Given the description of an element on the screen output the (x, y) to click on. 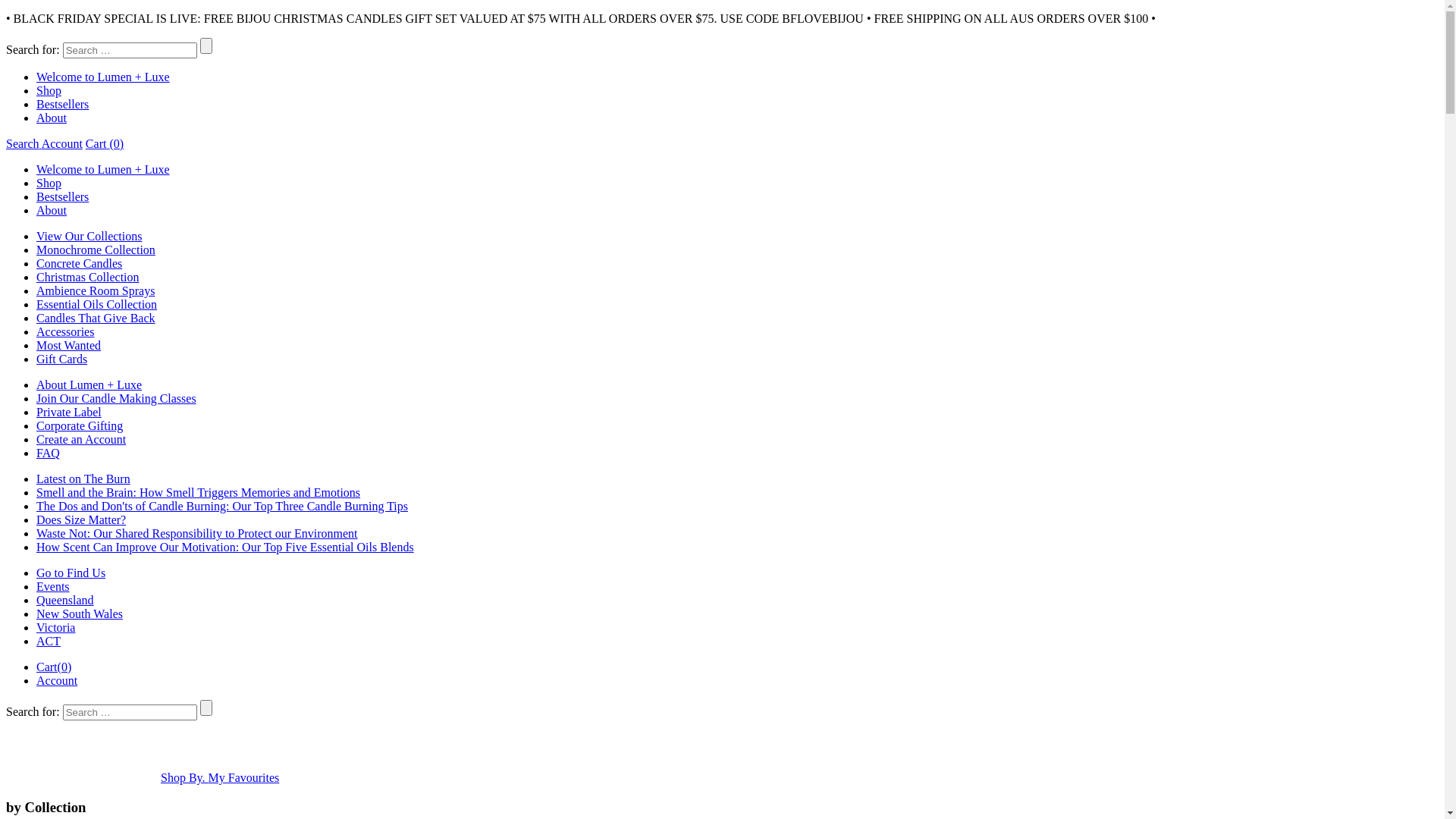
Welcome to Lumen + Luxe Element type: text (102, 76)
Shop Element type: text (48, 182)
Candles That Give Back Element type: text (95, 317)
Search Element type: text (23, 143)
Go to Find Us Element type: text (70, 572)
Search for: Element type: hover (129, 712)
My Favourites Element type: text (243, 777)
Account Element type: text (56, 680)
Queensland Element type: text (65, 599)
Shop Element type: text (48, 90)
Bestsellers Element type: text (62, 103)
Join Our Candle Making Classes Element type: text (116, 398)
Bestsellers Element type: text (62, 196)
ACT Element type: text (48, 640)
Corporate Gifting Element type: text (79, 425)
About Element type: text (51, 209)
Cart (0) Element type: text (104, 143)
Victoria Element type: text (55, 627)
Shop By. Element type: text (184, 777)
View Our Collections Element type: text (88, 235)
Most Wanted Element type: text (68, 344)
Ambience Room Sprays Element type: text (95, 290)
Christmas Collection Element type: text (87, 276)
Account Element type: text (61, 143)
About Lumen + Luxe Element type: text (88, 384)
Monochrome Collection Element type: text (95, 249)
New South Wales Element type: text (79, 613)
Accessories Element type: text (65, 331)
Welcome to Lumen + Luxe Element type: text (102, 169)
Gift Cards Element type: text (61, 358)
Create an Account Element type: text (80, 439)
About Element type: text (51, 117)
Private Label Element type: text (68, 411)
Concrete Candles Element type: text (79, 263)
Search for: Element type: hover (129, 50)
Events Element type: text (52, 586)
Cart(0) Element type: text (53, 666)
Latest on The Burn Element type: text (83, 478)
Essential Oils Collection Element type: text (96, 304)
Does Size Matter? Element type: text (80, 519)
FAQ Element type: text (47, 452)
